Given the description of an element on the screen output the (x, y) to click on. 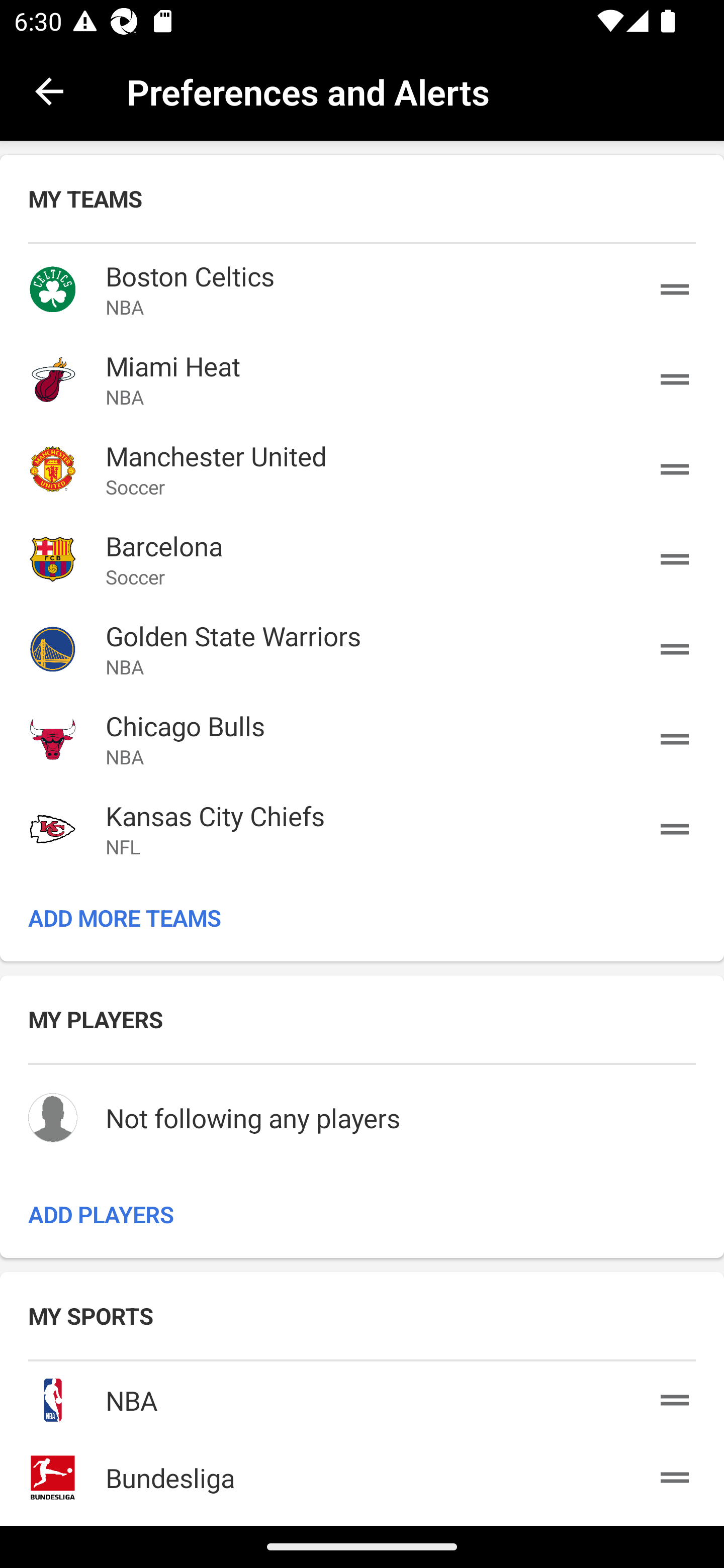
back.button (49, 90)
Miami Heat Miami Heat Miami Heat NBA NBA (362, 378)
Barcelona Barcelona Barcelona Soccer Soccer (362, 558)
Chicago Bulls Chicago Bulls Chicago Bulls NBA NBA (362, 739)
ADD MORE TEAMS (362, 917)
ADD PLAYERS (362, 1213)
NBA NBA NBA (362, 1395)
Bundesliga Bundesliga Bundesliga (362, 1473)
